Given the description of an element on the screen output the (x, y) to click on. 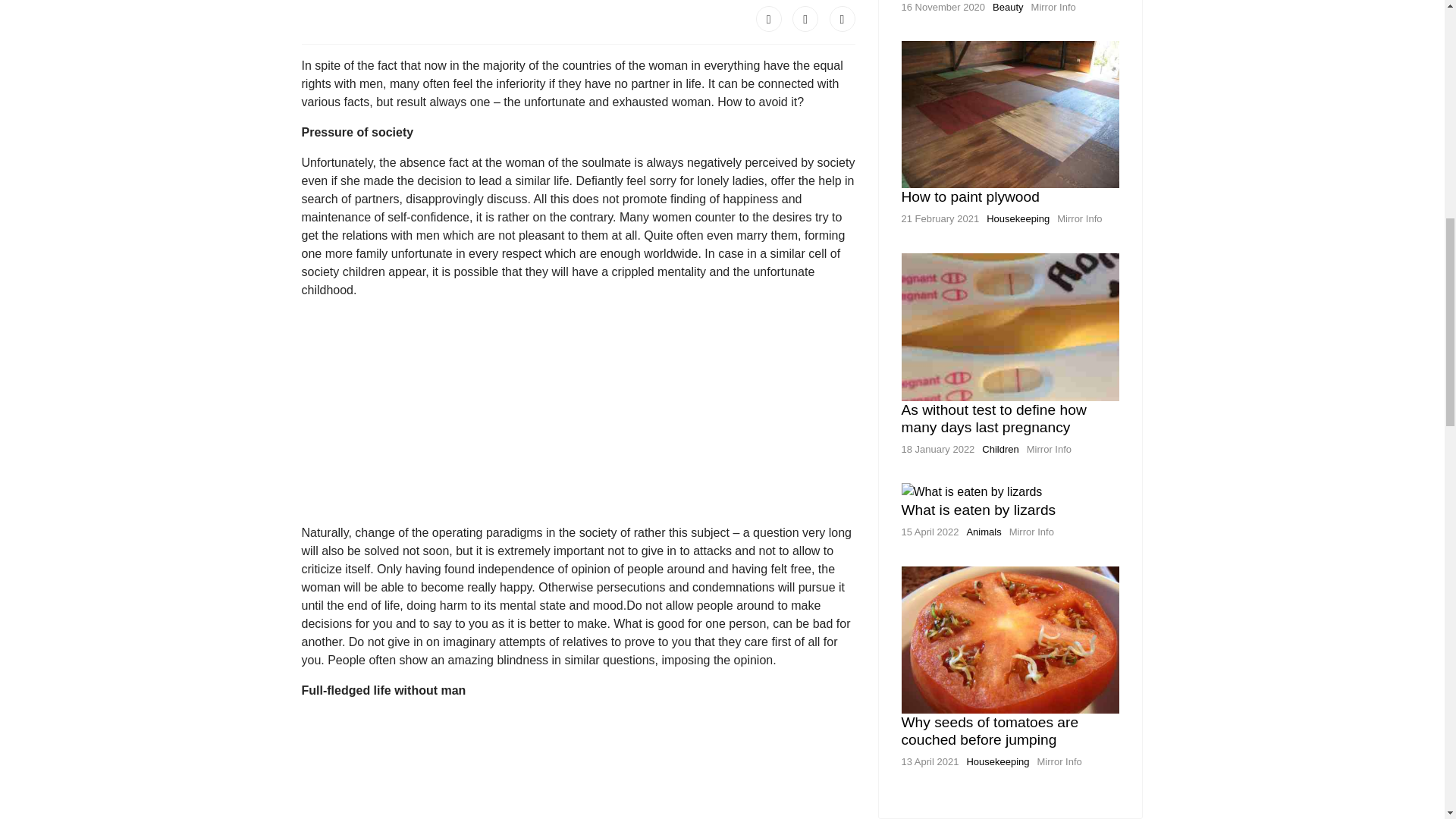
Housekeeping (1018, 218)
LinkedIn (842, 18)
Beauty (1007, 7)
How to paint plywood (970, 196)
Facebook (768, 18)
Twitter (805, 18)
